Given the description of an element on the screen output the (x, y) to click on. 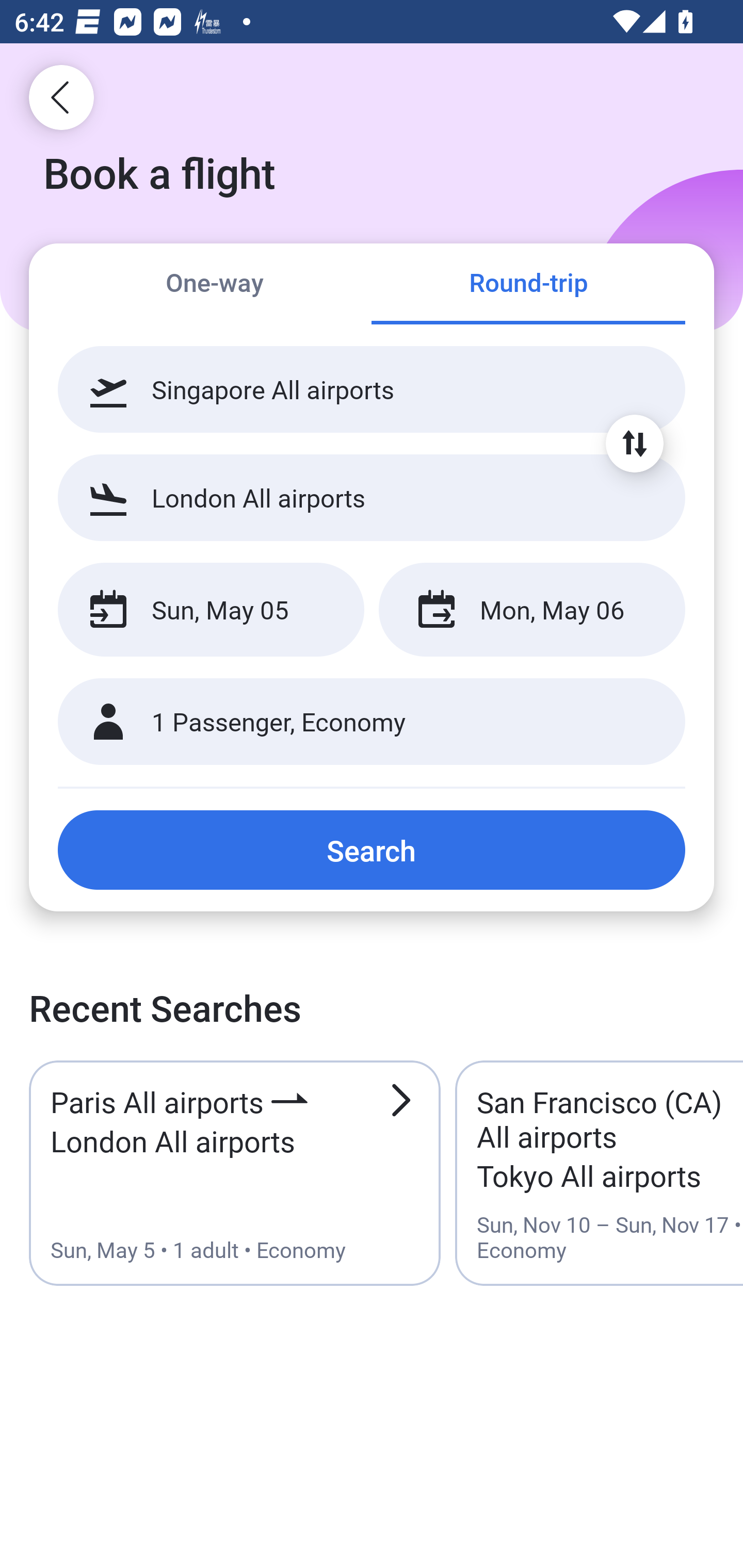
One-way (214, 284)
Singapore All airports (371, 389)
London All airports (371, 497)
Sun, May 05 (210, 609)
Mon, May 06 (531, 609)
1 Passenger, Economy (371, 721)
Search (371, 849)
